Given the description of an element on the screen output the (x, y) to click on. 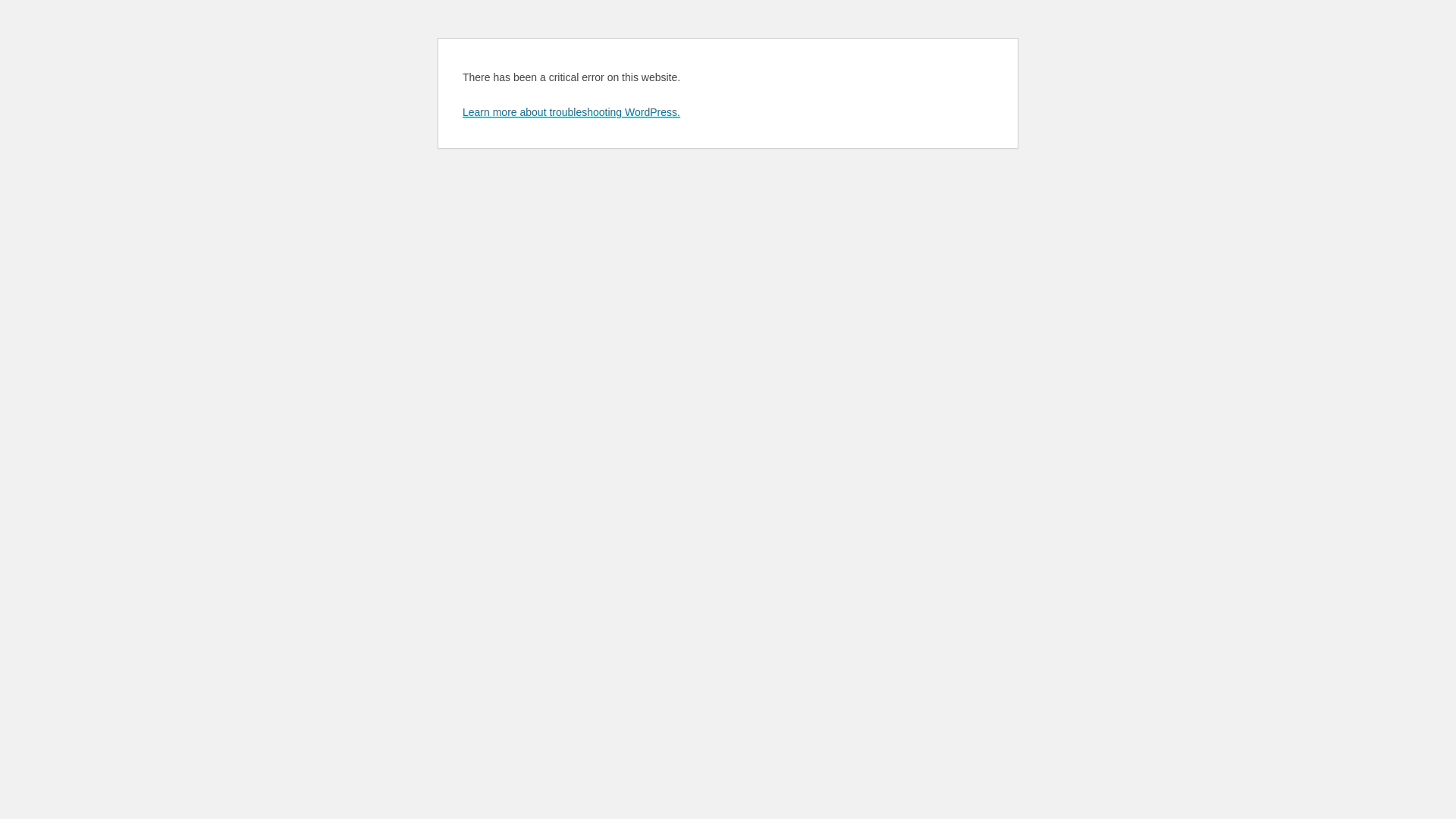
Learn more about troubleshooting WordPress. Element type: text (571, 112)
